Given the description of an element on the screen output the (x, y) to click on. 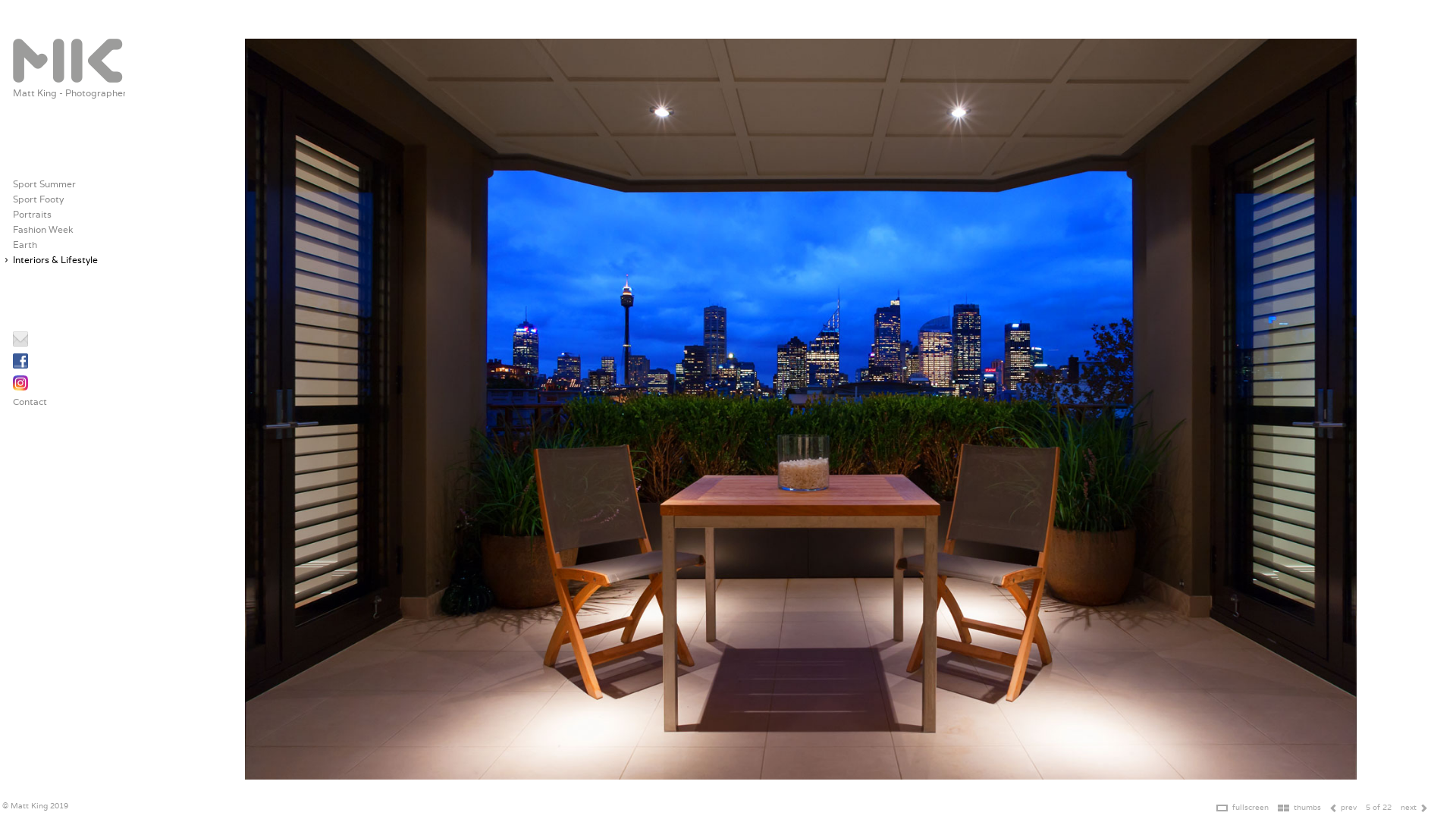
thumbs Element type: text (1307, 807)
next Element type: text (1408, 807)
Portraits Element type: text (31, 213)
Matt King - Photographer Element type: text (69, 92)
Earth Element type: text (24, 244)
Sport Summer Element type: text (43, 183)
fullscreen Element type: text (1250, 807)
Fashion Week Element type: text (42, 229)
5 of 22 Element type: text (1378, 807)
prev Element type: text (1348, 807)
Contact Element type: text (29, 401)
Sport Footy Element type: text (37, 198)
Interiors & Lifestyle Element type: text (54, 259)
